Given the description of an element on the screen output the (x, y) to click on. 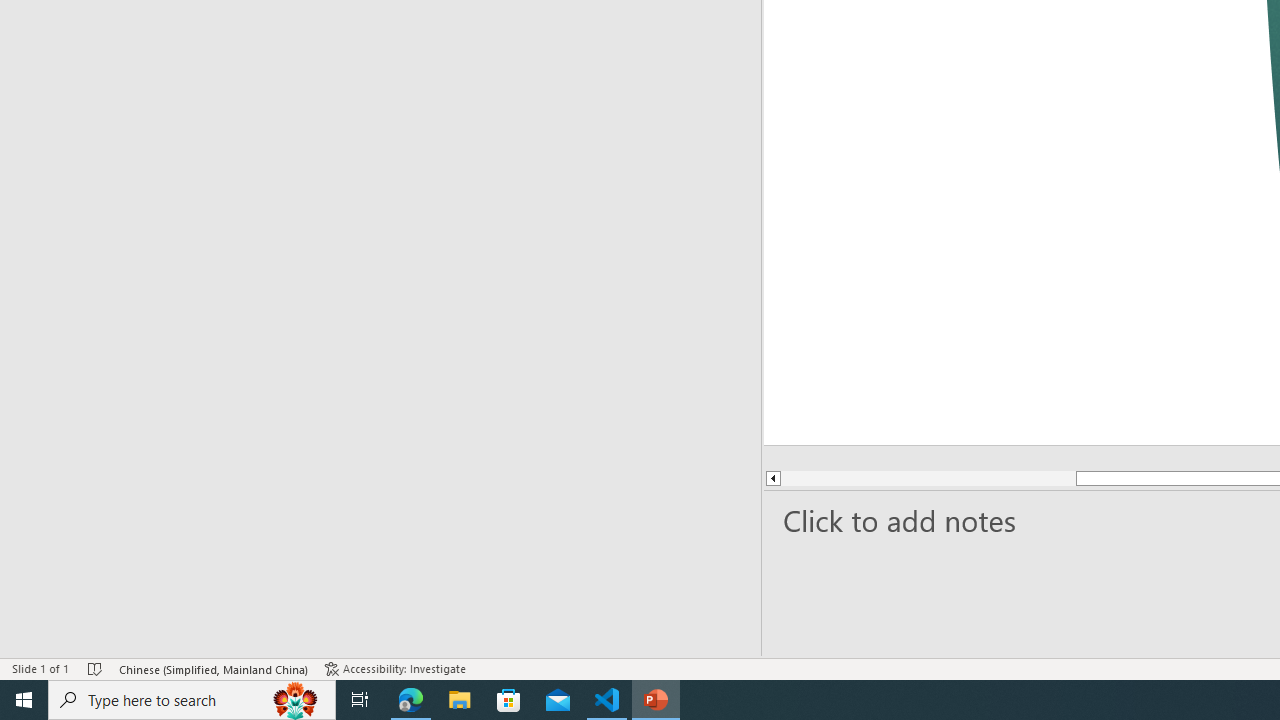
Page up (868, 478)
Spell Check No Errors (95, 668)
Accessibility Checker Accessibility: Investigate (397, 668)
Line up (722, 478)
